Given the description of an element on the screen output the (x, y) to click on. 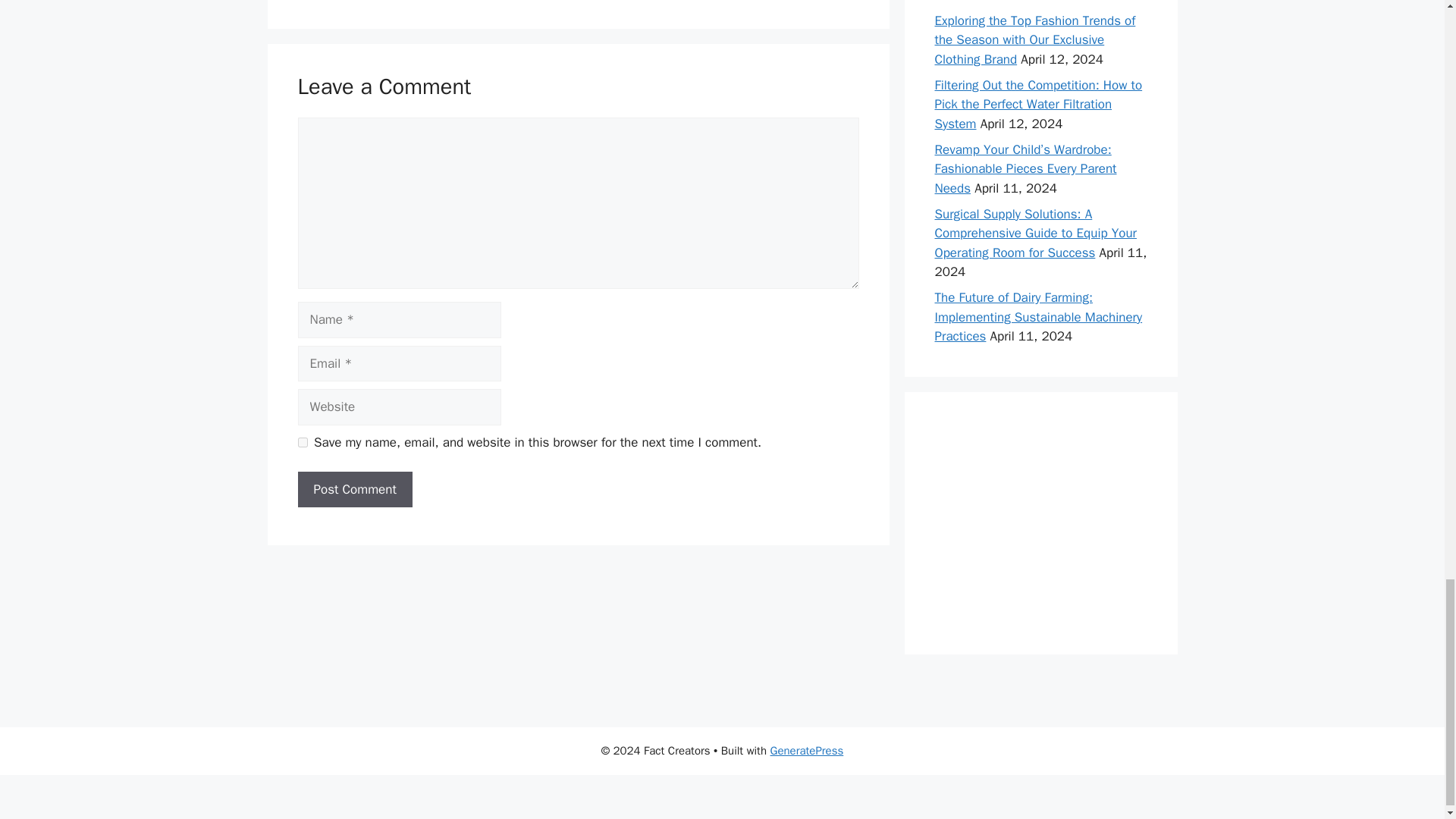
Post Comment (354, 489)
yes (302, 442)
Post Comment (354, 489)
